Given the description of an element on the screen output the (x, y) to click on. 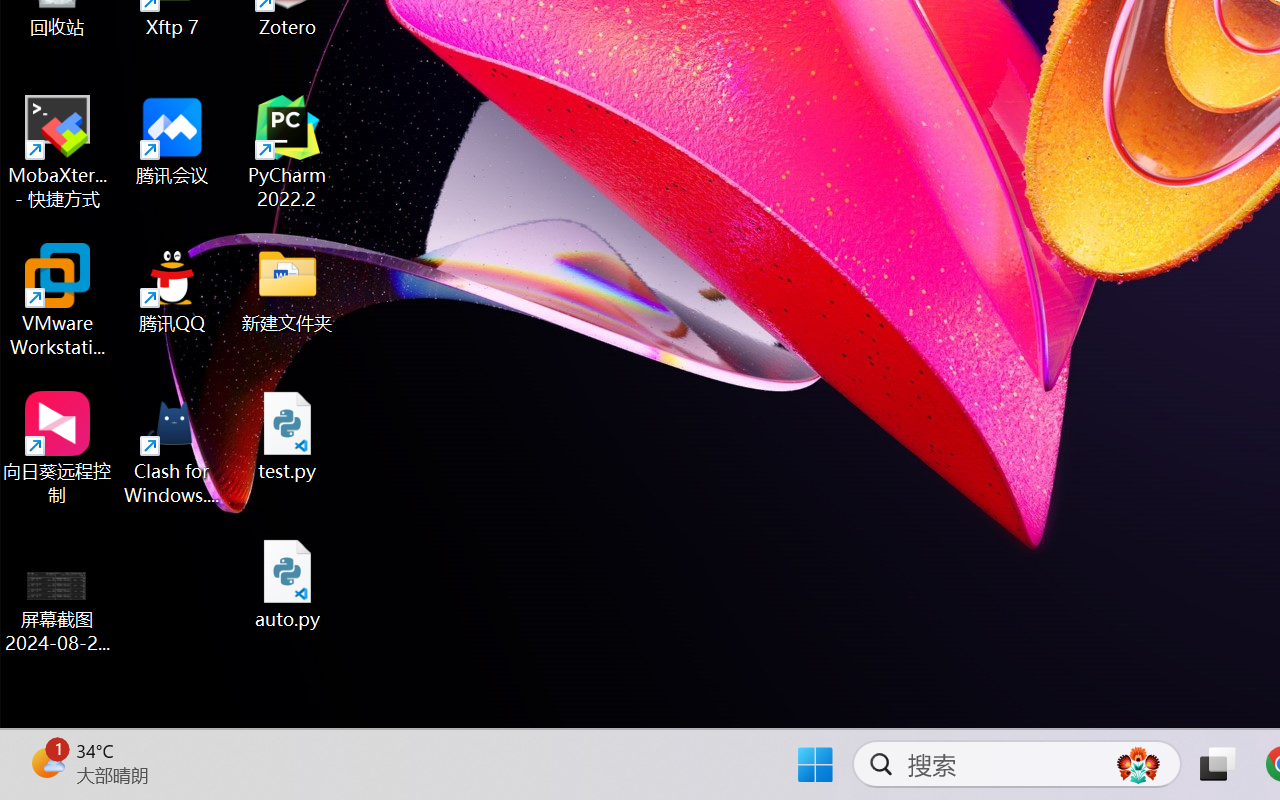
PyCharm 2022.2 (287, 152)
test.py (287, 436)
auto.py (287, 584)
